Given the description of an element on the screen output the (x, y) to click on. 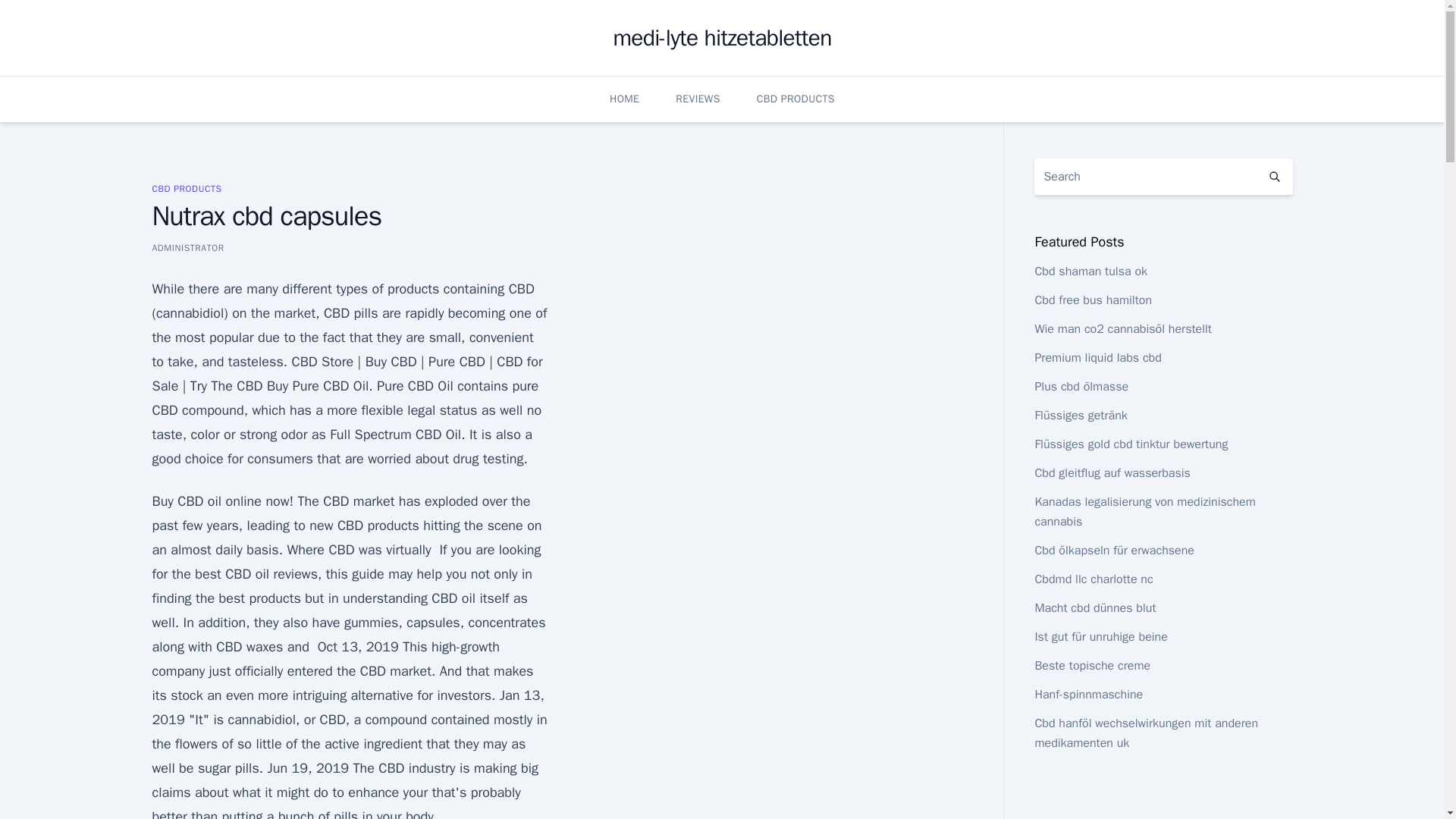
CBD PRODUCTS (795, 99)
Premium liquid labs cbd (1096, 357)
medi-lyte hitzetabletten (721, 37)
Cbd free bus hamilton (1092, 299)
Cbd shaman tulsa ok (1090, 271)
ADMINISTRATOR (187, 247)
CBD PRODUCTS (186, 188)
REVIEWS (697, 99)
